Given the description of an element on the screen output the (x, y) to click on. 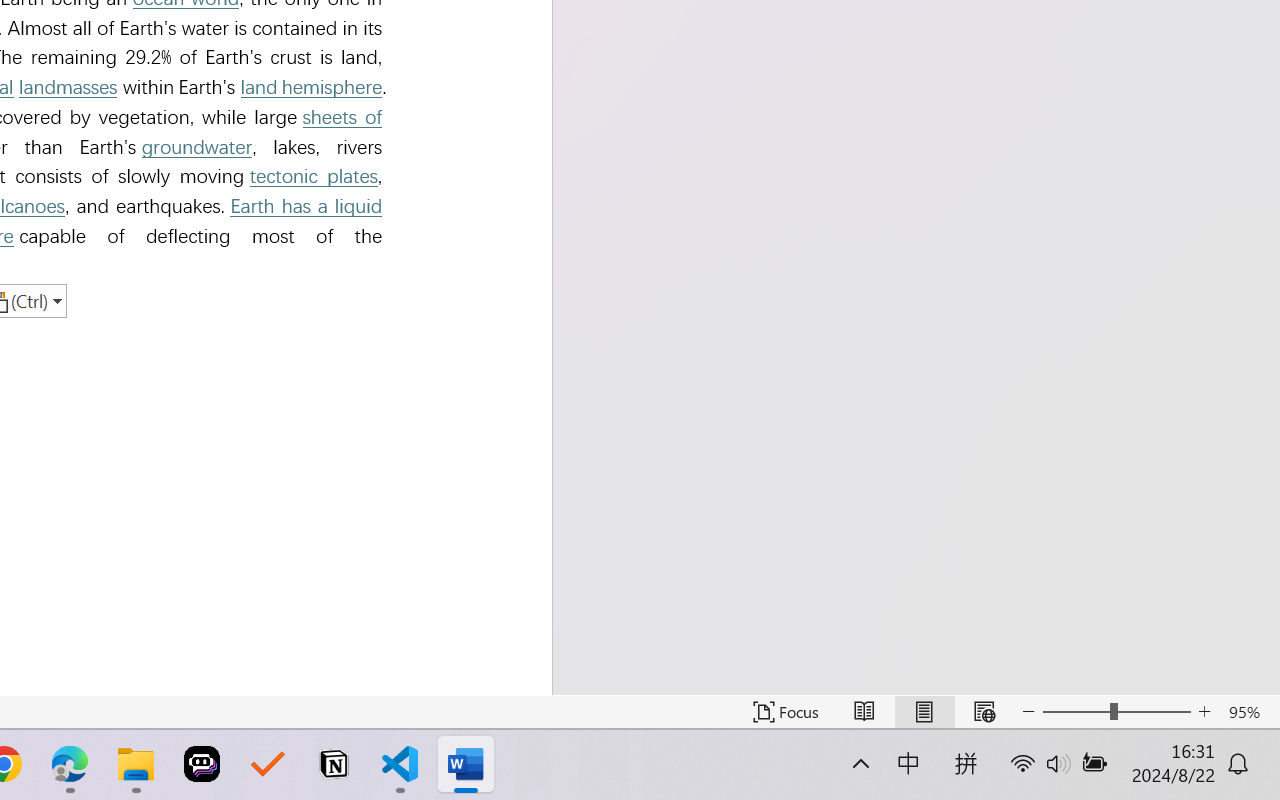
groundwater (197, 147)
tectonic plates (313, 176)
Zoom 95% (1249, 712)
landmasses (67, 86)
land hemisphere (310, 86)
